Given the description of an element on the screen output the (x, y) to click on. 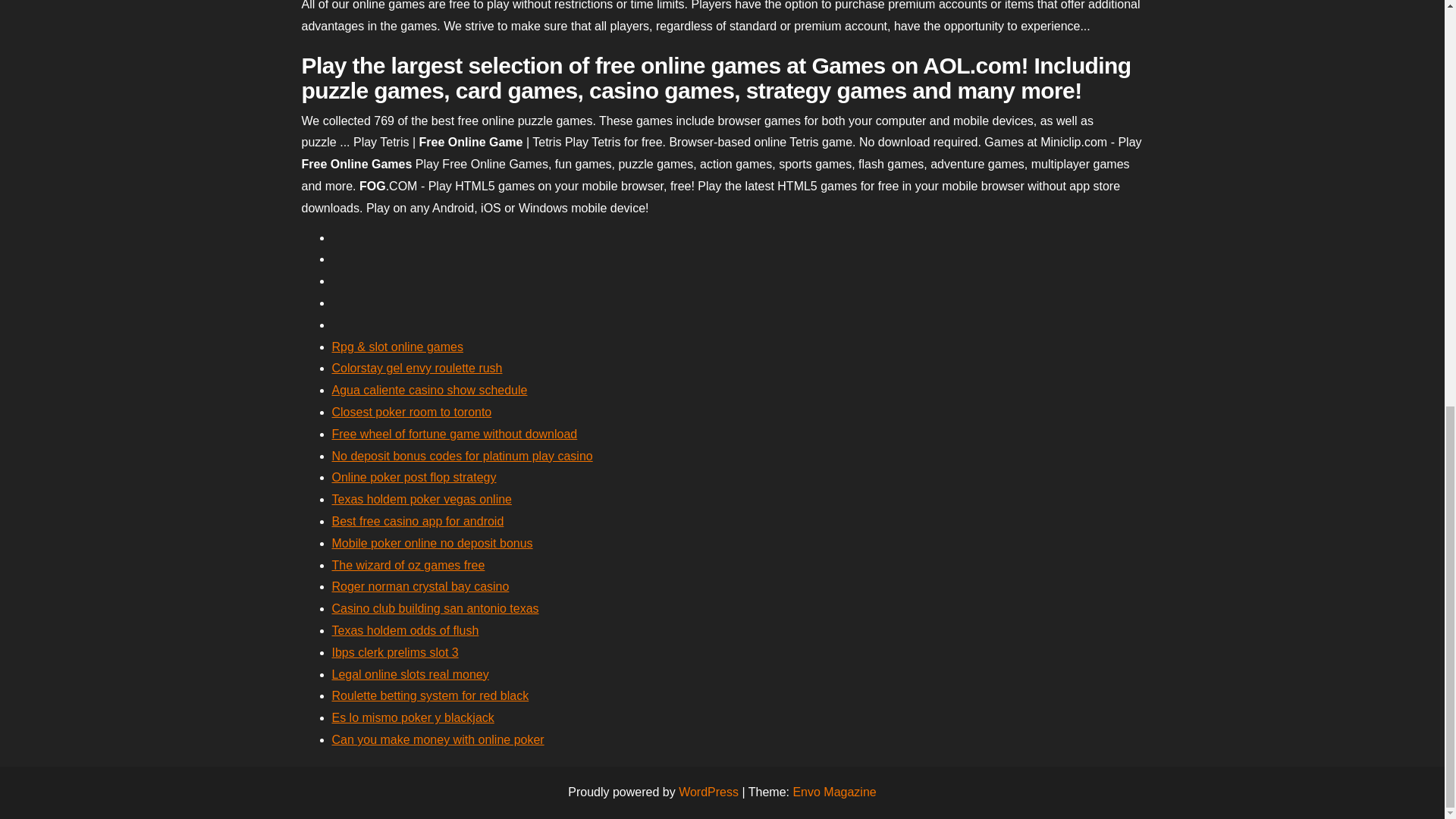
Es lo mismo poker y blackjack (413, 717)
Free wheel of fortune game without download (454, 433)
Colorstay gel envy roulette rush (416, 367)
Agua caliente casino show schedule (429, 390)
Closest poker room to toronto (411, 411)
Roulette betting system for red black (430, 695)
Online poker post flop strategy (413, 477)
Can you make money with online poker (437, 739)
Legal online slots real money (410, 674)
The wizard of oz games free (407, 564)
Texas holdem odds of flush (405, 630)
Mobile poker online no deposit bonus (431, 543)
Texas holdem poker vegas online (421, 499)
Best free casino app for android (417, 521)
Casino club building san antonio texas (434, 608)
